Given the description of an element on the screen output the (x, y) to click on. 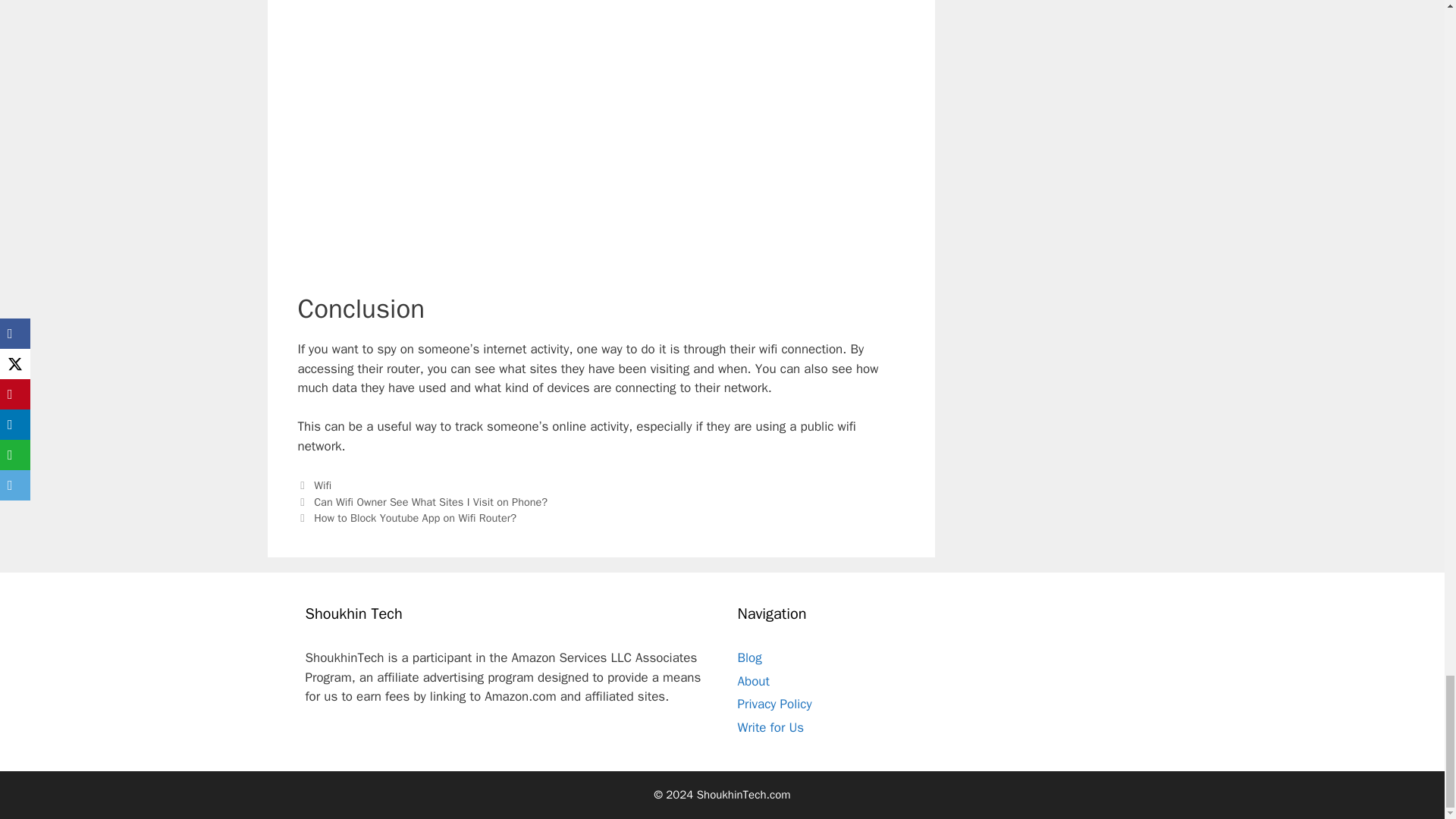
How to Block Youtube App on Wifi Router? (415, 517)
Can Wifi Owner See What Sites I Visit on Phone? (430, 501)
Wifi (322, 485)
